Given the description of an element on the screen output the (x, y) to click on. 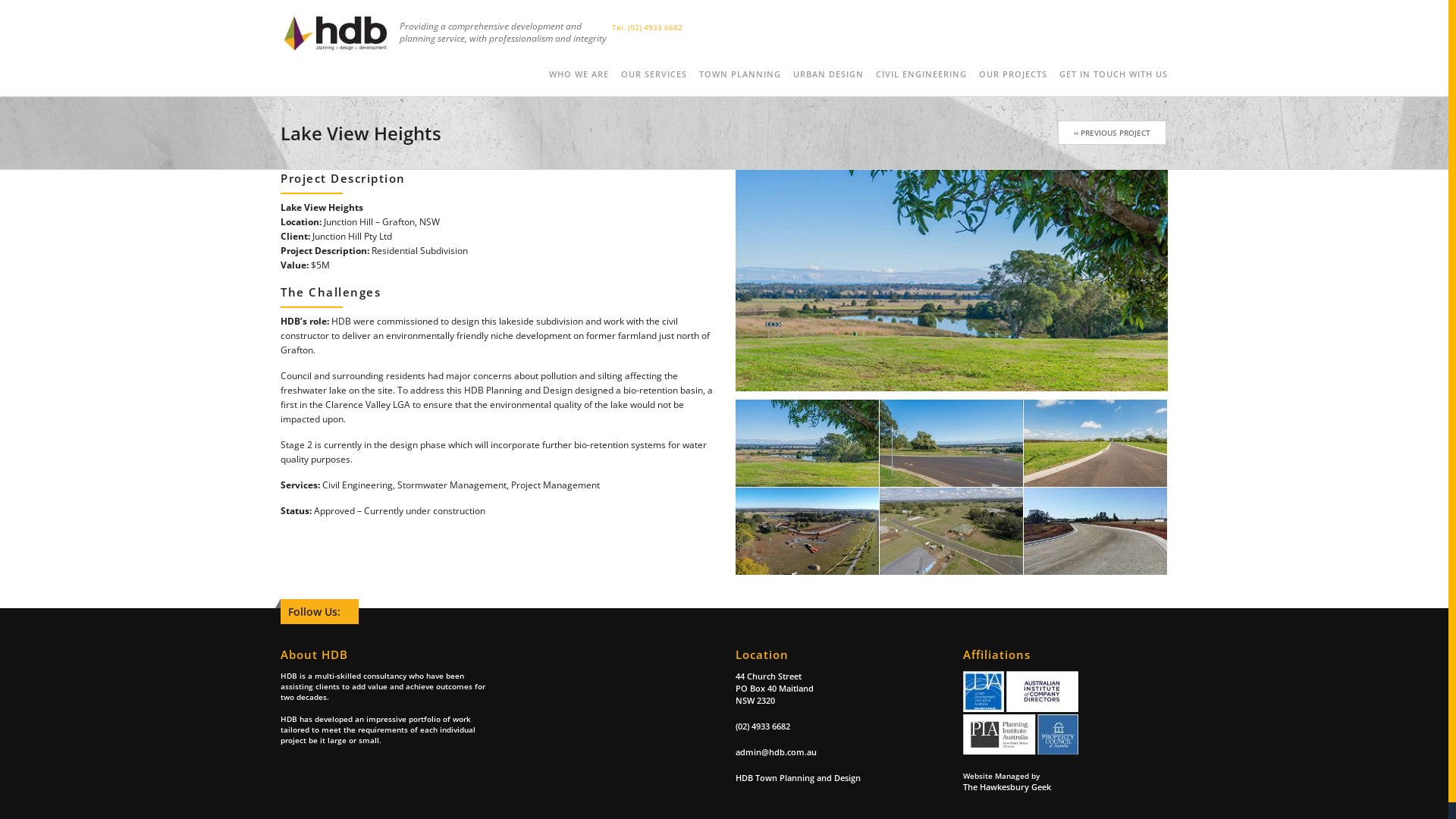
OUR SERVICES Element type: text (654, 74)
(02) 4933 6682 Element type: text (837, 726)
admin@hdb.com.au Element type: text (837, 752)
TOWN PLANNING Element type: text (740, 74)
GET IN TOUCH WITH US Element type: text (1113, 74)
HDB Town Planning and Design Element type: text (837, 777)
WHO WE ARE Element type: text (578, 74)
OUR PROJECTS Element type: text (1013, 74)
URBAN DESIGN Element type: text (828, 74)
CIVIL ENGINEERING Element type: text (920, 74)
44 Church Street
PO Box 40 Maitland
NSW 2320 Element type: text (837, 688)
The Hawkesbury Geek Element type: text (1065, 787)
Tel. (02) 4933 6682 Element type: text (646, 26)
